Given the description of an element on the screen output the (x, y) to click on. 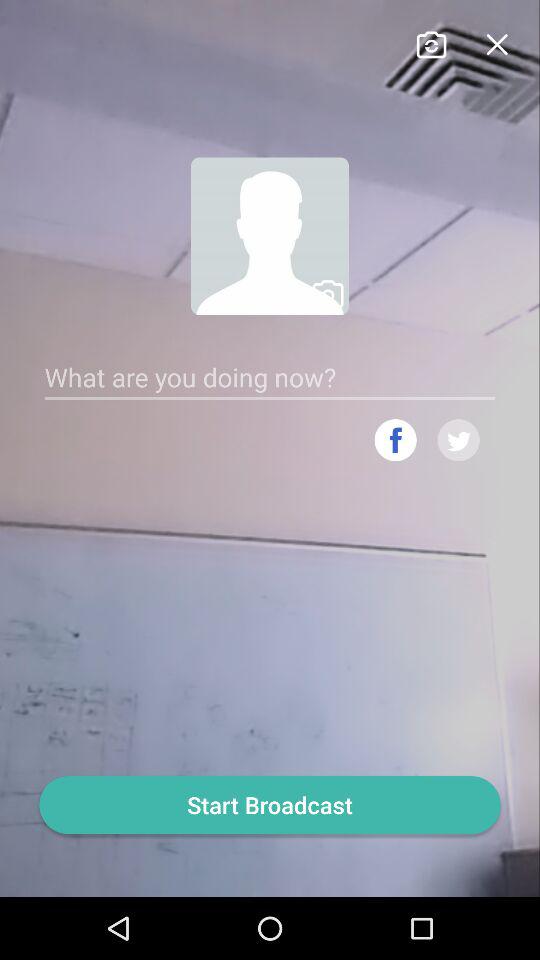
open camera (430, 42)
